Given the description of an element on the screen output the (x, y) to click on. 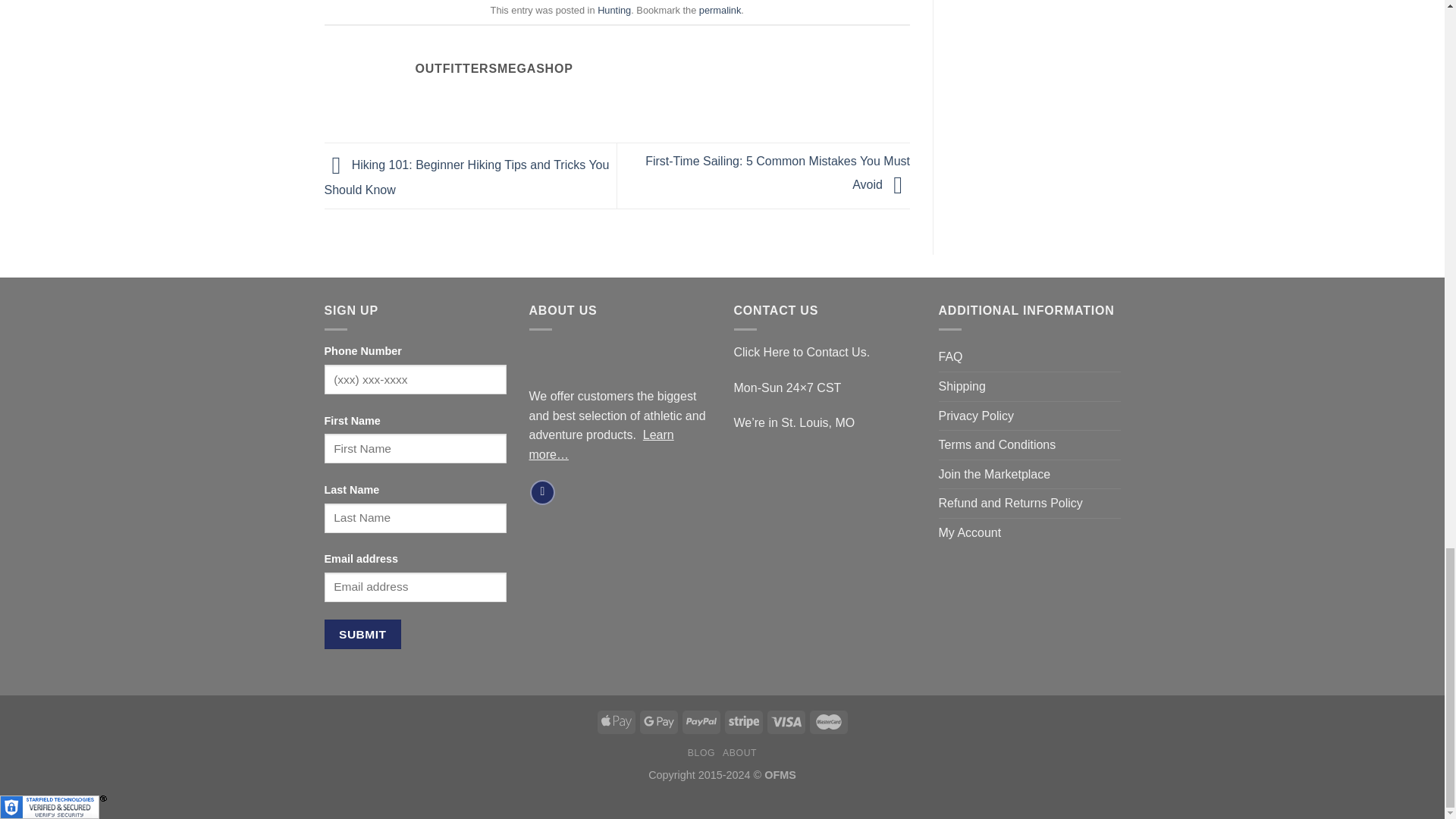
permalink (719, 9)
Hunting (613, 9)
Submit (362, 634)
First-Time Sailing: 5 Common Mistakes You Must Avoid (777, 172)
Hiking 101: Beginner Hiking Tips and Tricks You Should Know (467, 177)
